Given the description of an element on the screen output the (x, y) to click on. 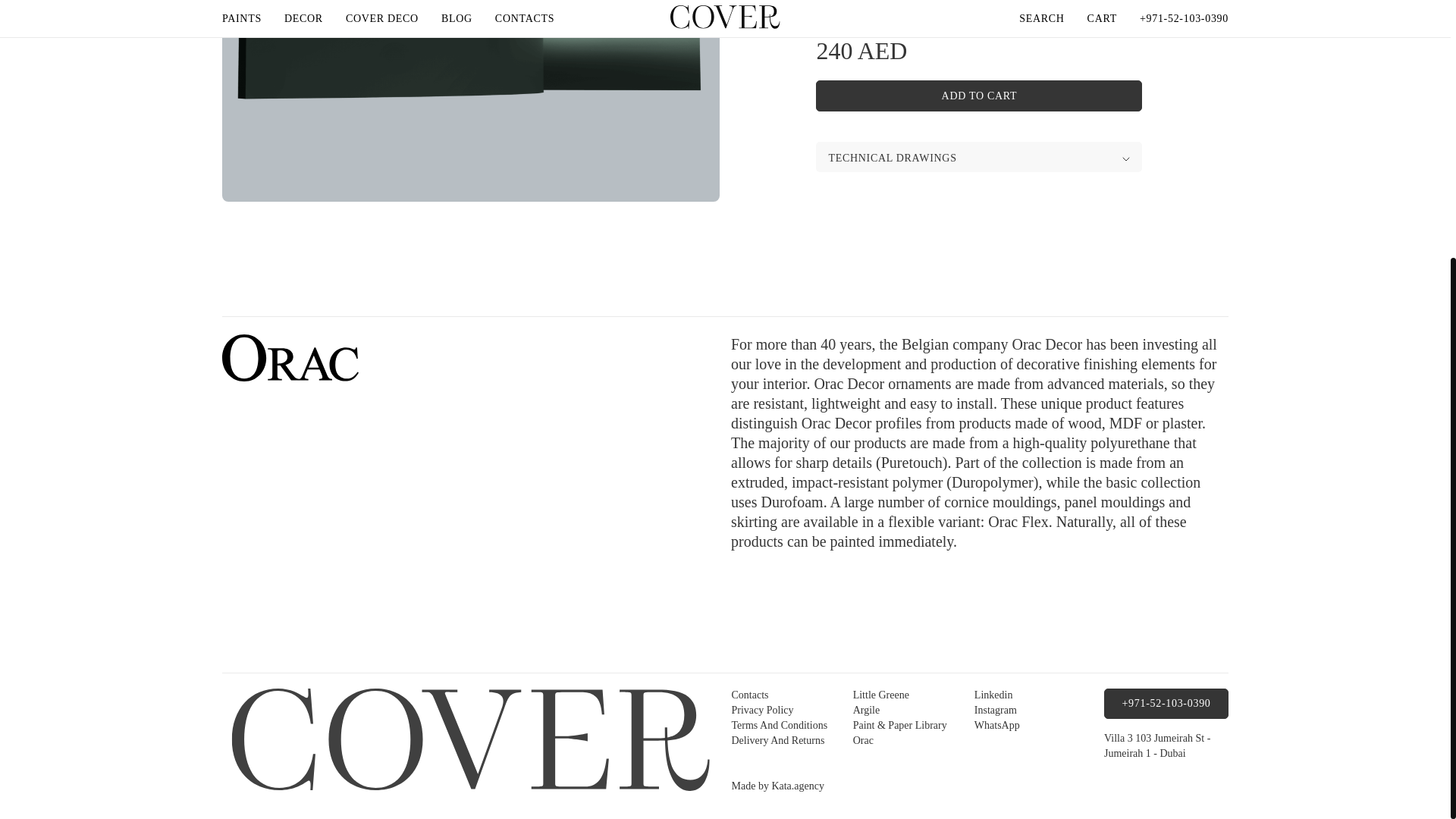
Delivery And Returns (777, 740)
Terms And Conditions (778, 725)
ADD TO CART (978, 95)
Privacy Policy (761, 709)
INSTALLATION MANUAL (887, 8)
Contacts (749, 695)
